Given the description of an element on the screen output the (x, y) to click on. 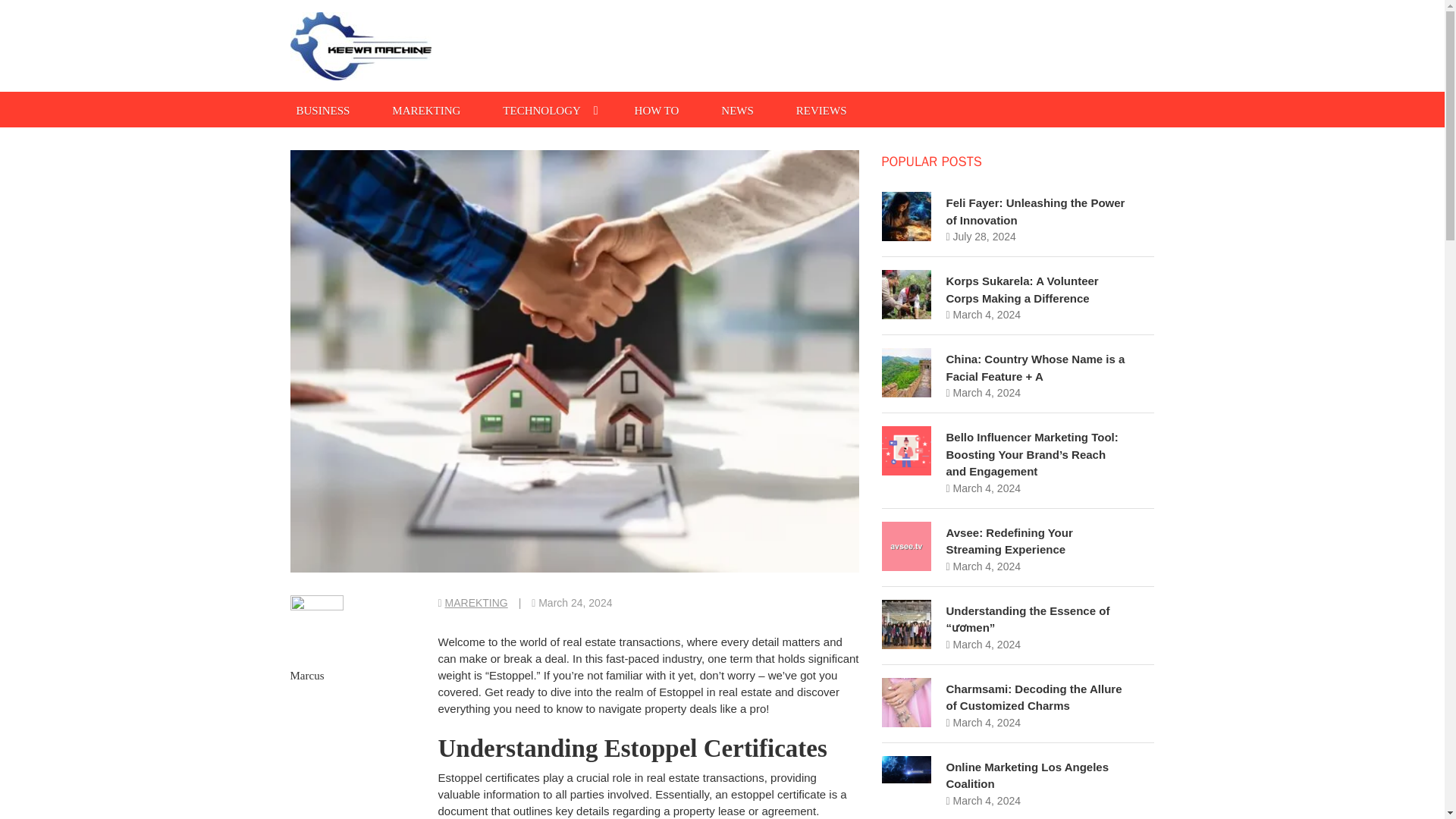
Avsee: Redefining Your Streaming Experience (1009, 541)
HOW TO (656, 109)
Feli Fayer: Unleashing the Power of Innovation (1035, 211)
Online Marketing Los Angeles Coalition (1027, 775)
Online Marketing Los Angeles Coalition (1027, 775)
BUSINESS (322, 109)
MAREKTING (476, 603)
Avsee: Redefining Your Streaming Experience (1009, 541)
Korps Sukarela: A Volunteer Corps Making a Difference (1022, 289)
Posts by Marcus (306, 675)
Charmsami: Decoding the Allure of Customized Charms (1034, 697)
Charmsami: Decoding the Allure of Customized Charms (1034, 697)
Feli Fayer: Unleashing the Power of Innovation (1035, 211)
NEWS (737, 109)
Marcus (306, 675)
